Given the description of an element on the screen output the (x, y) to click on. 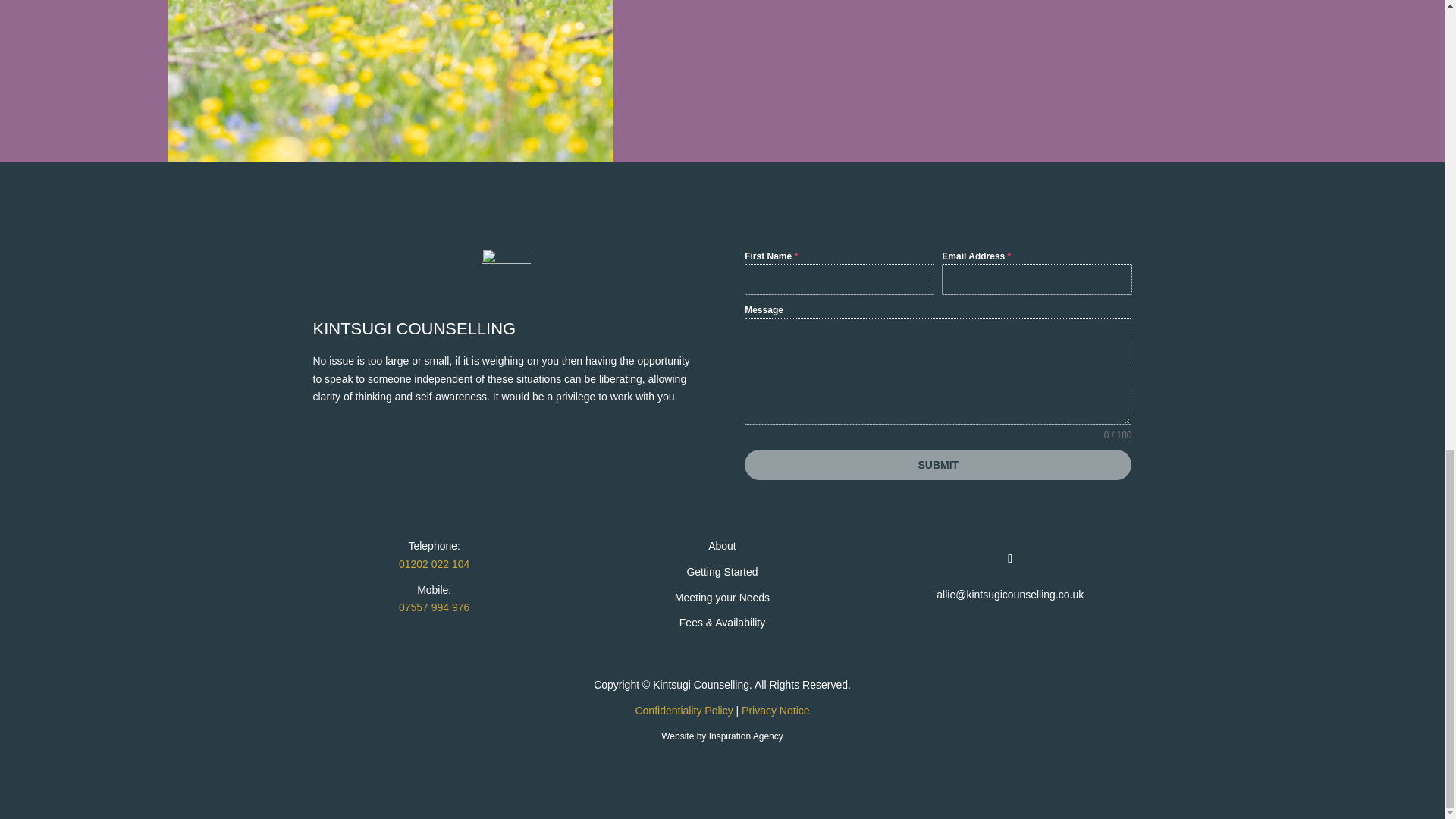
SUBMIT (937, 464)
Meeting your Needs (722, 597)
01202 022 104 (433, 563)
07557 994 976 (433, 607)
Getting Started (721, 571)
Privacy Notice (775, 710)
Follow on Instagram (1009, 558)
About (721, 545)
Confidentiality Policy (683, 710)
